Given the description of an element on the screen output the (x, y) to click on. 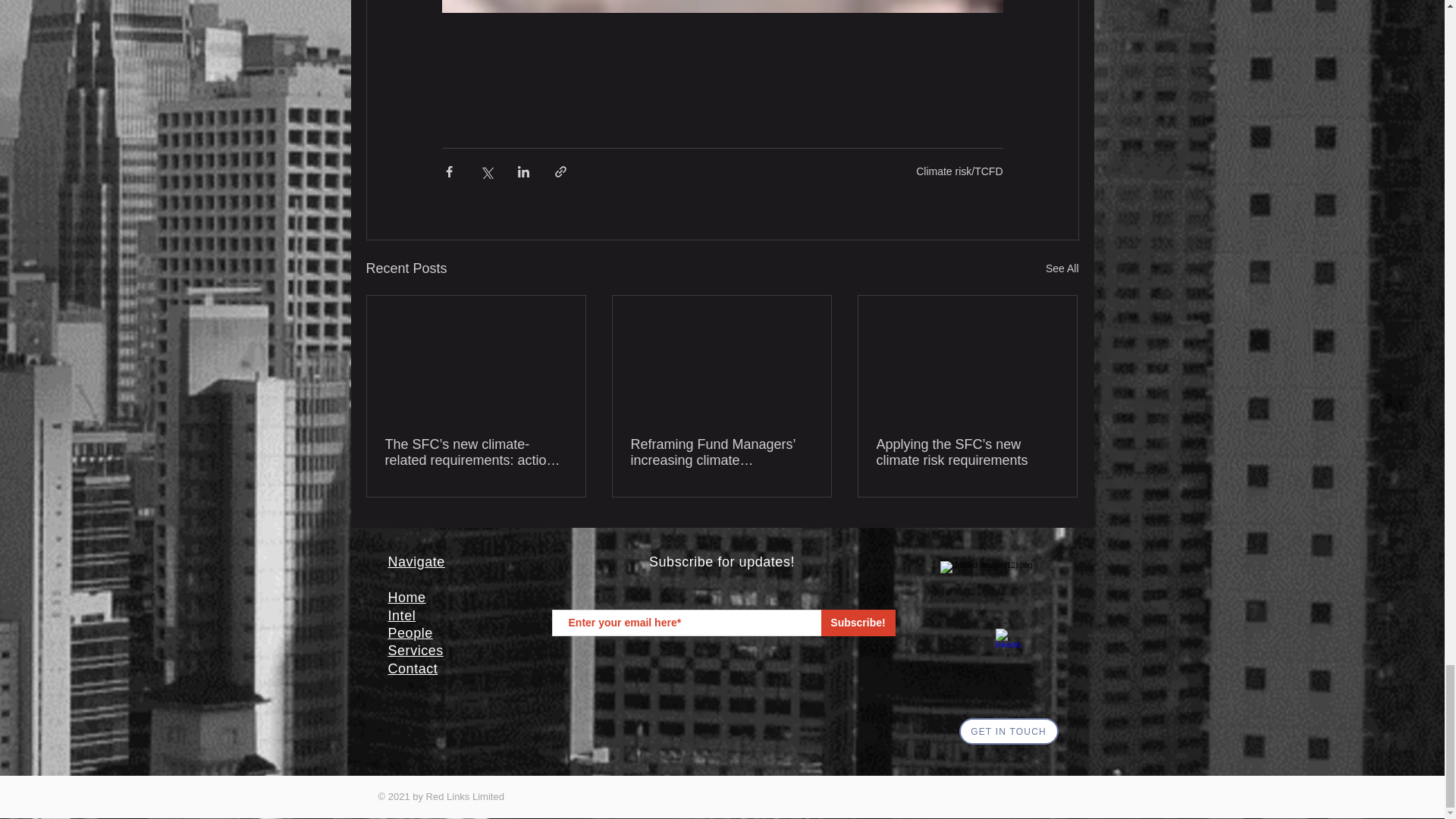
See All (1061, 268)
Services (416, 650)
Contact (413, 668)
People (410, 632)
Home (407, 597)
Subscribe! (858, 622)
GET IN TOUCH (1008, 731)
Intel (402, 614)
